Given the description of an element on the screen output the (x, y) to click on. 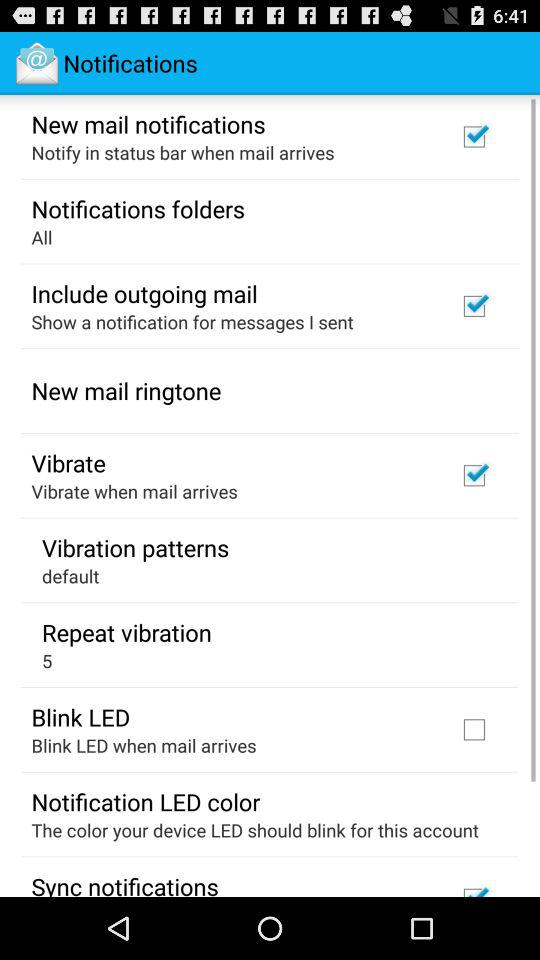
scroll to the include outgoing mail item (144, 293)
